Given the description of an element on the screen output the (x, y) to click on. 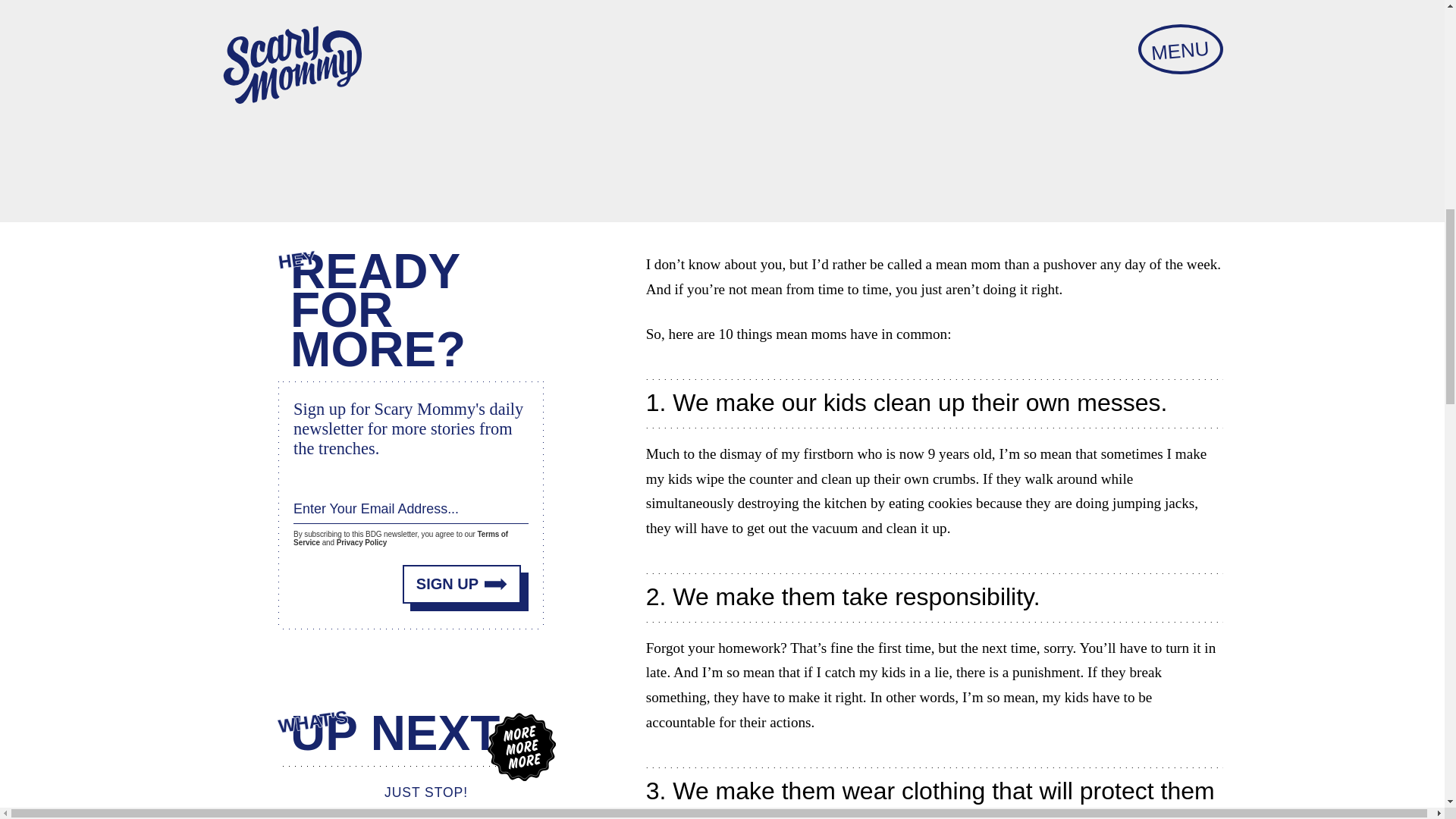
Privacy Policy (361, 538)
Terms of Service (401, 533)
SIGN UP (462, 578)
